Given the description of an element on the screen output the (x, y) to click on. 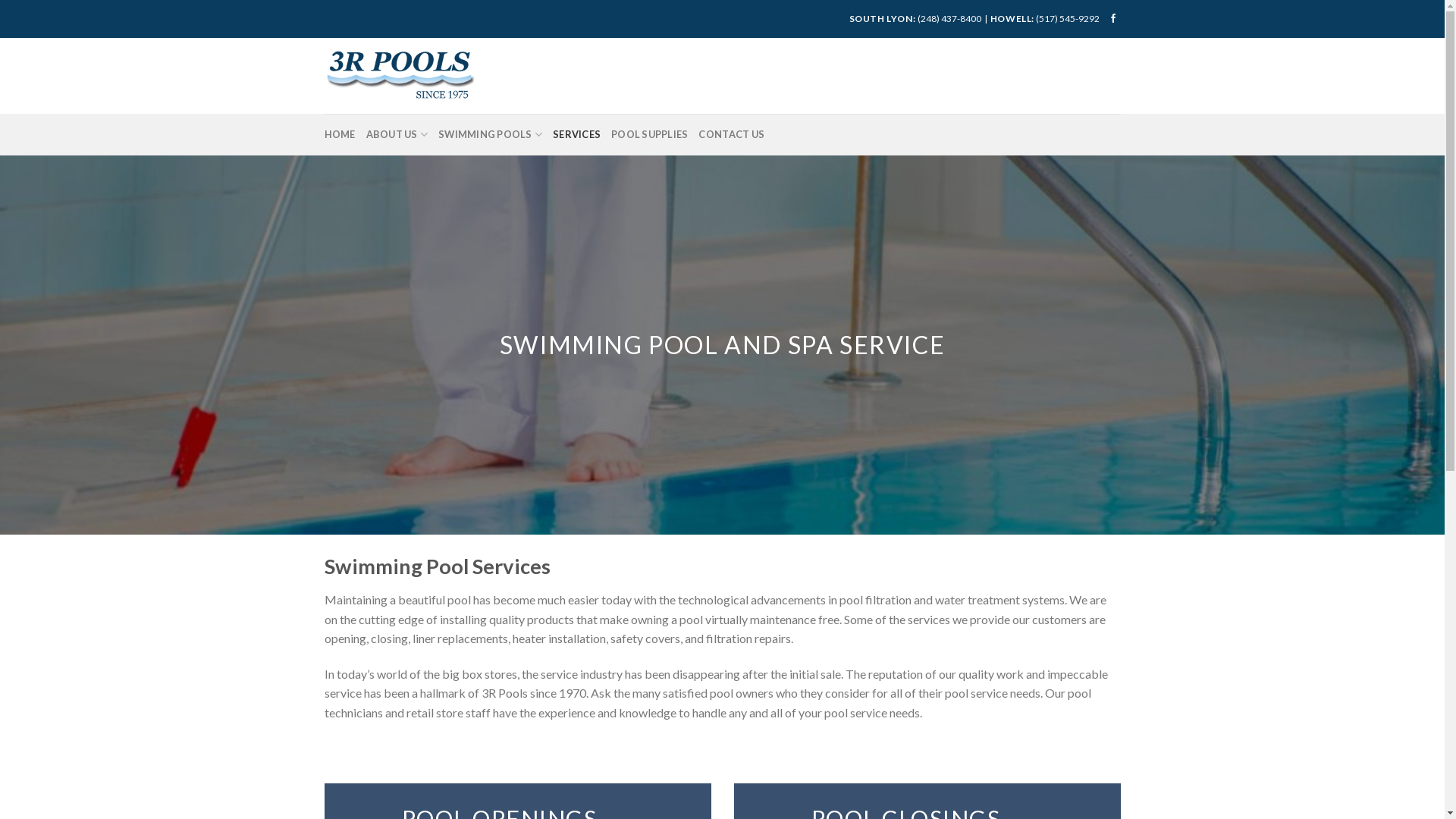
Follow on Facebook Element type: hover (1112, 18)
ABOUT US Element type: text (397, 134)
CONTACT US Element type: text (731, 134)
SERVICES Element type: text (576, 134)
3R Pools Element type: hover (400, 75)
HOME Element type: text (339, 134)
SWIMMING POOLS Element type: text (490, 134)
POOL SUPPLIES Element type: text (649, 134)
